Given the description of an element on the screen output the (x, y) to click on. 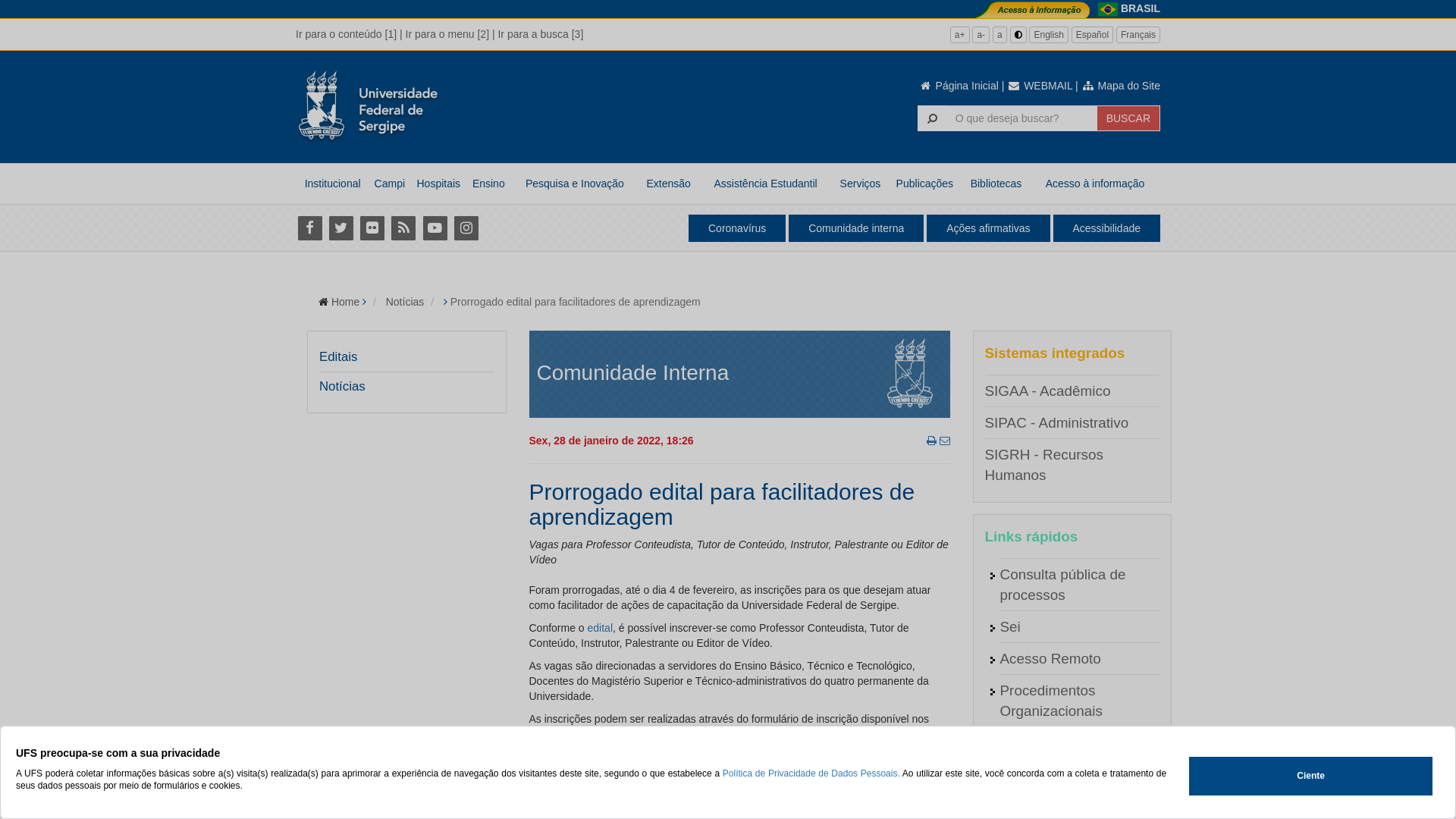
a+ Element type: text (959, 34)
Ir para o menu [2] Element type: text (447, 34)
Institucional Element type: text (332, 183)
Comunidade interna Element type: text (855, 227)
Hospitais Element type: text (438, 183)
BRASIL Element type: text (1140, 8)
Campi Element type: text (389, 183)
a Element type: text (999, 34)
RSS Element type: text (403, 227)
Bibliotecas Element type: text (995, 183)
Twitter Element type: text (340, 227)
Agenda do Vice-Reitor Element type: text (1071, 806)
progep.ufs.br Element type: text (677, 734)
capacitese.ufs.br Element type: text (593, 734)
a- Element type: text (980, 34)
Sei Element type: text (1009, 626)
Home Element type: text (345, 301)
Flickr Element type: text (371, 227)
Facebook Element type: text (309, 227)
Ir para a busca [3] Element type: text (540, 34)
Instagram Element type: text (465, 227)
Mapa do Site Element type: text (1120, 85)
WEBMAIL Element type: text (1039, 85)
Editais Element type: text (338, 356)
English Element type: text (1048, 34)
Acesso Remoto Element type: text (1049, 658)
Procedimentos Organizacionais Element type: text (1050, 700)
BUSCAR Element type: text (1128, 118)
Agenda do Reitor Element type: text (1054, 774)
PDI 2021-2025 Element type: text (1047, 742)
SIGRH - Recursos Humanos Element type: text (1043, 464)
SIPAC - Administrativo Element type: text (1056, 422)
Acessibilidade Element type: text (1106, 227)
Youtube Element type: text (434, 227)
edital Element type: text (599, 627)
Ensino Element type: text (488, 183)
